Given the description of an element on the screen output the (x, y) to click on. 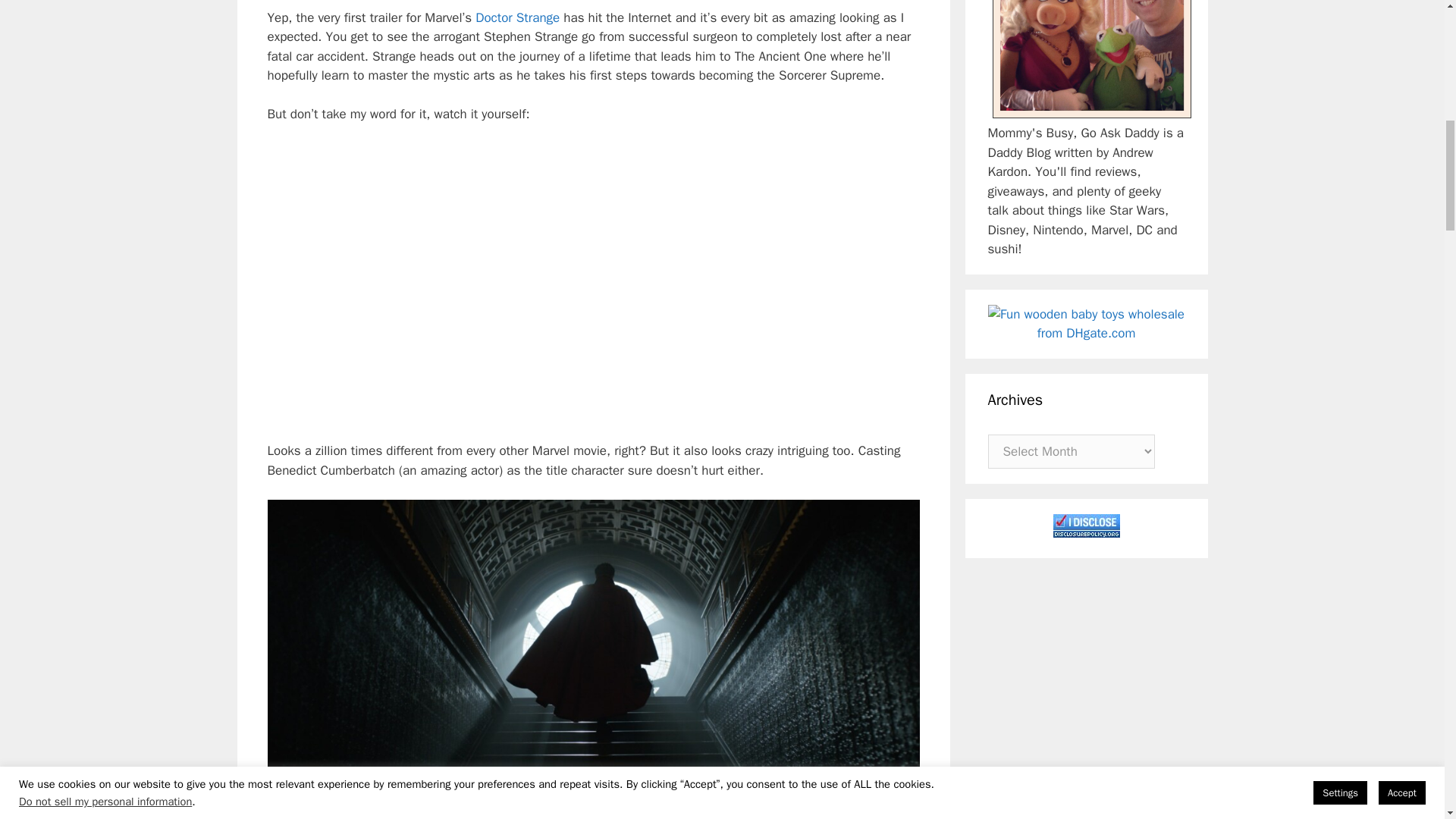
Doctor Strange (517, 17)
Scroll back to top (1406, 720)
Fun wooden baby toys wholesale from DHgate.com (1086, 323)
